Given the description of an element on the screen output the (x, y) to click on. 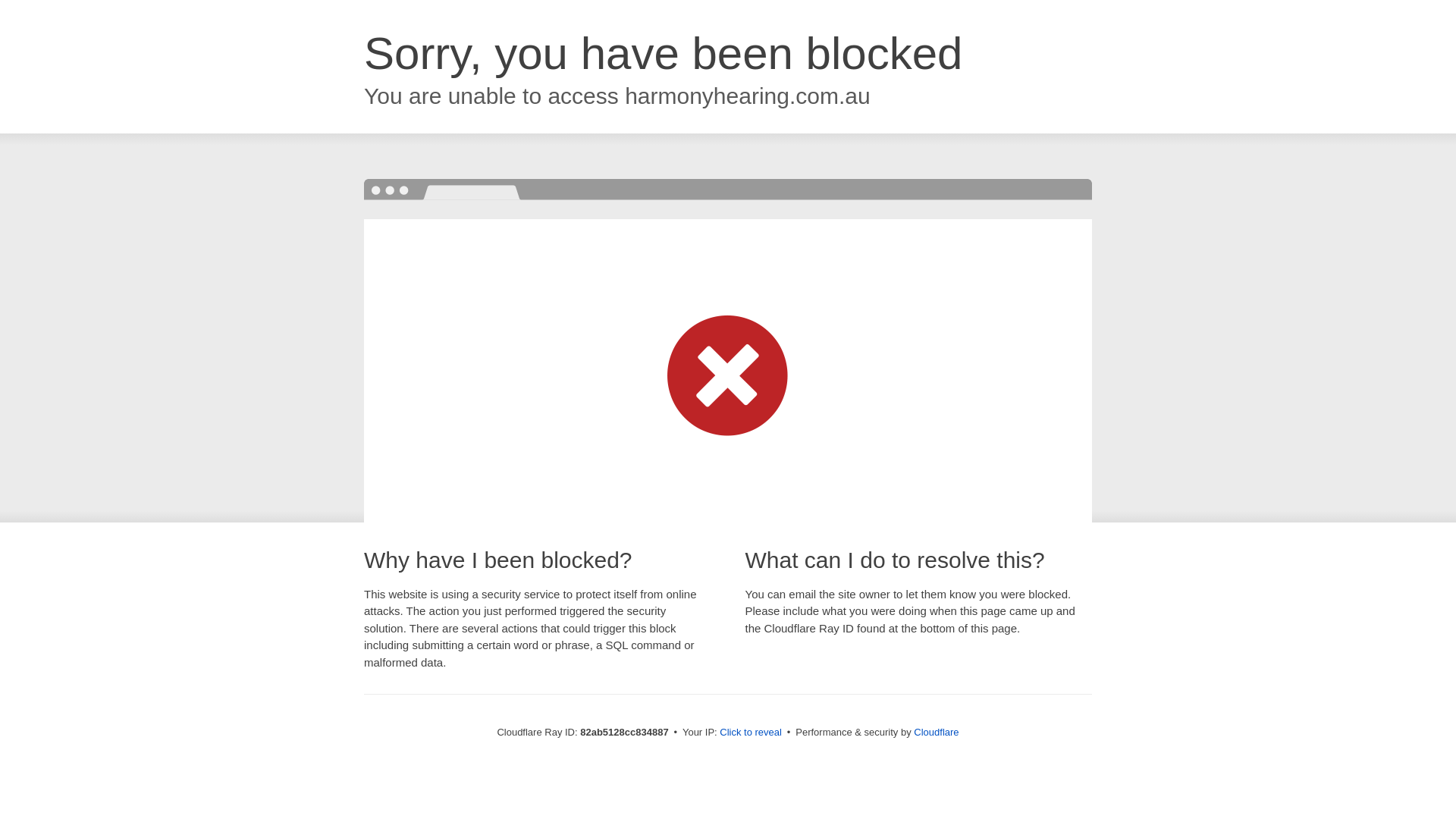
Cloudflare Element type: text (935, 731)
Click to reveal Element type: text (750, 732)
